Given the description of an element on the screen output the (x, y) to click on. 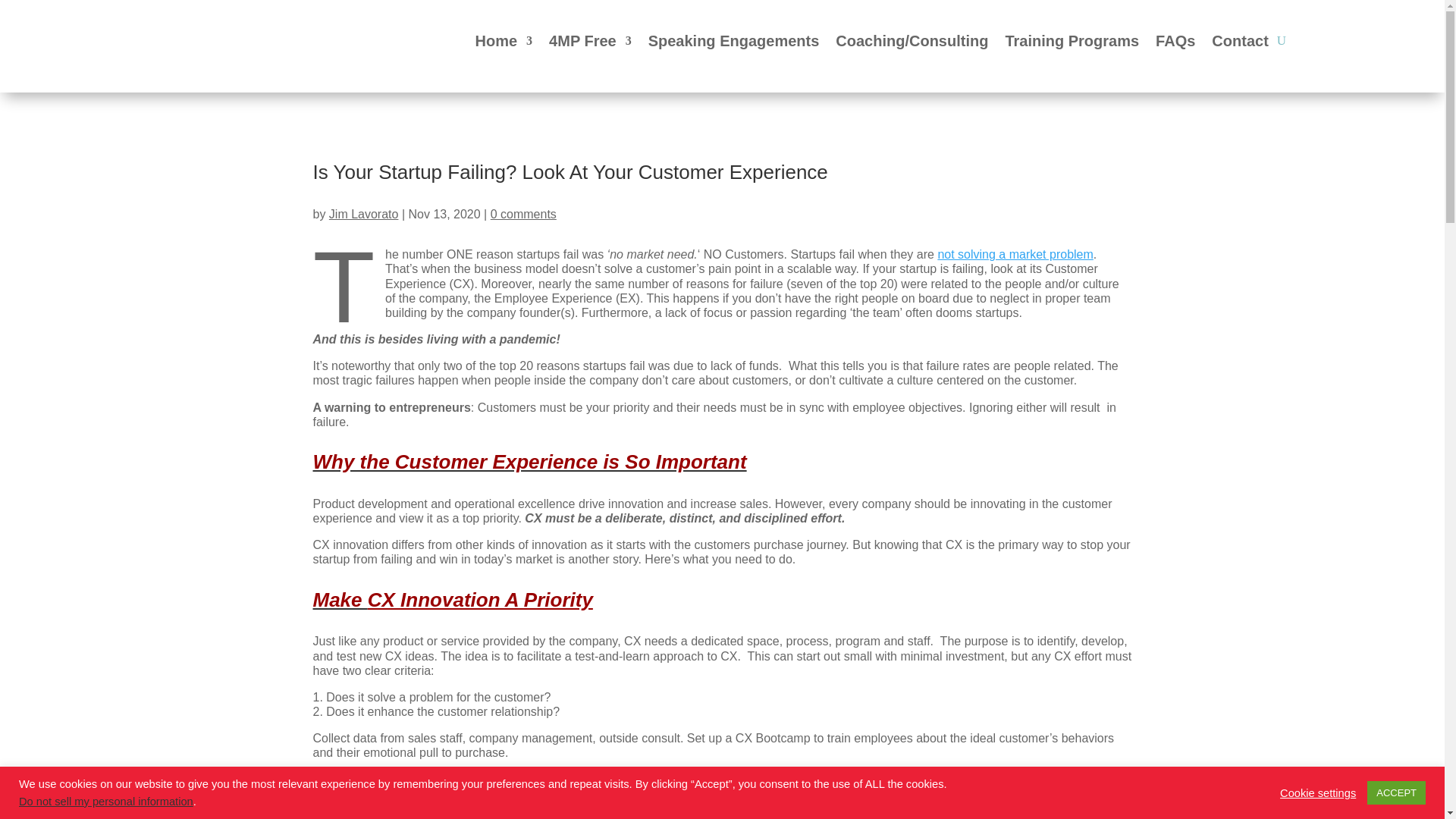
FAQs (1175, 44)
Posts by Jim Lavorato (363, 214)
Jim Lavorato (363, 214)
Speaking Engagements (733, 44)
Contact (1239, 44)
Training Programs (1071, 44)
Home (504, 44)
0 comments (523, 214)
4MP Free (589, 44)
not solving a market problem (1015, 254)
